Given the description of an element on the screen output the (x, y) to click on. 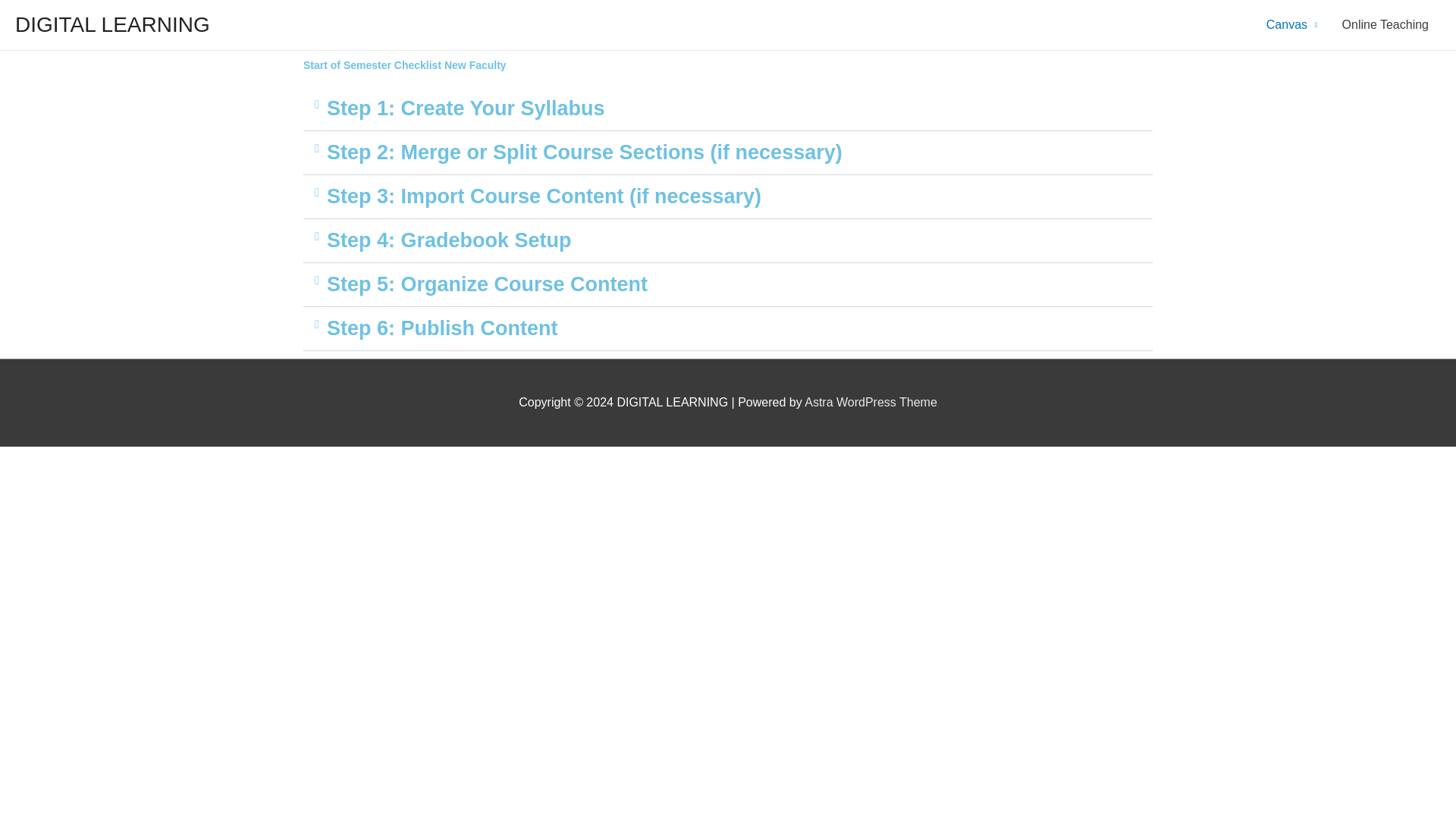
Online Teaching (1385, 24)
Step 4: Gradebook Setup (449, 240)
Step 1: Create Your Syllabus (465, 108)
Step 6: Publish Content (441, 327)
Canvas (1291, 24)
DIGITAL LEARNING (111, 24)
Step 5: Organize Course Content (486, 283)
